Given the description of an element on the screen output the (x, y) to click on. 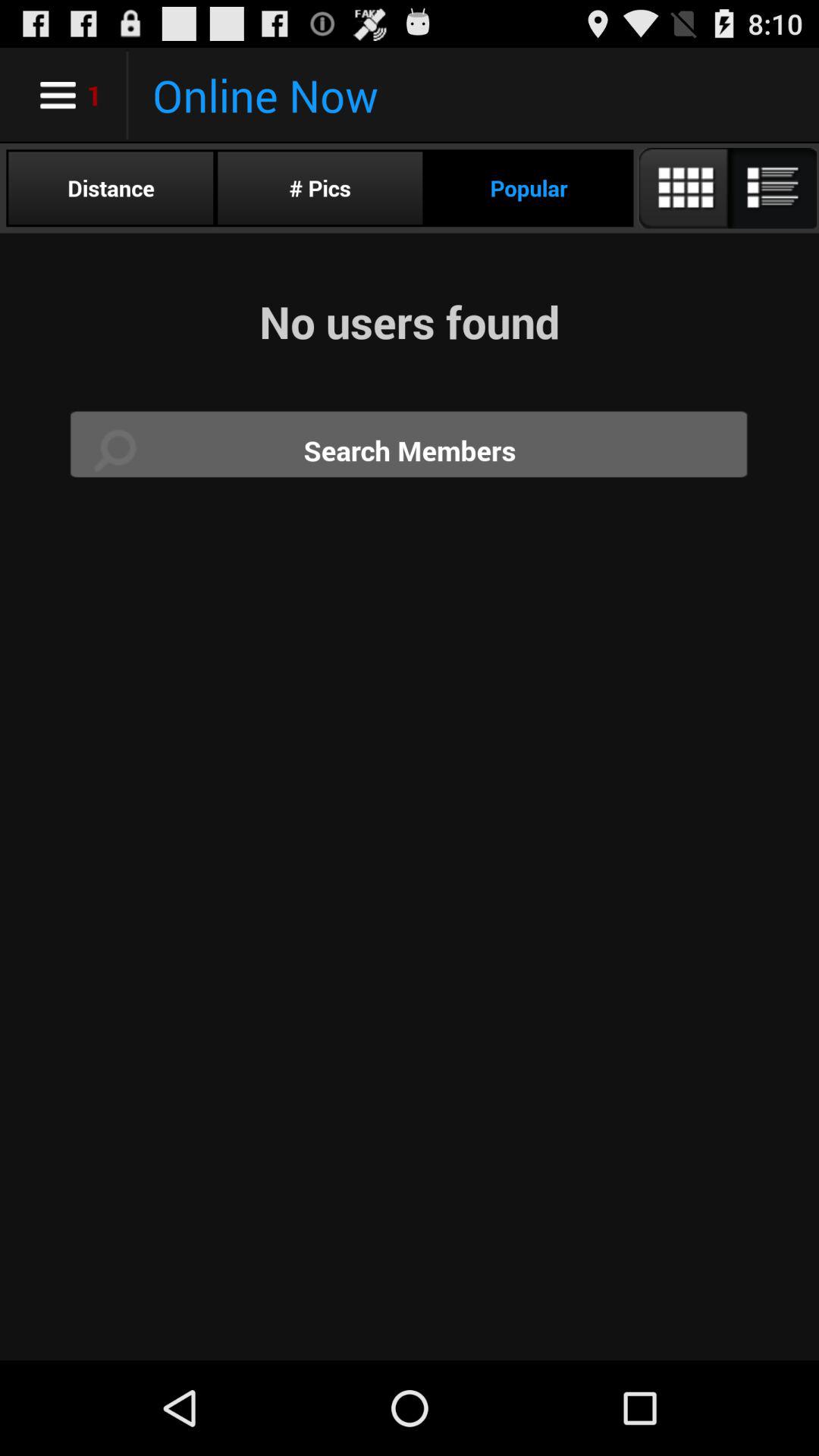
press app below the online now (528, 187)
